Given the description of an element on the screen output the (x, y) to click on. 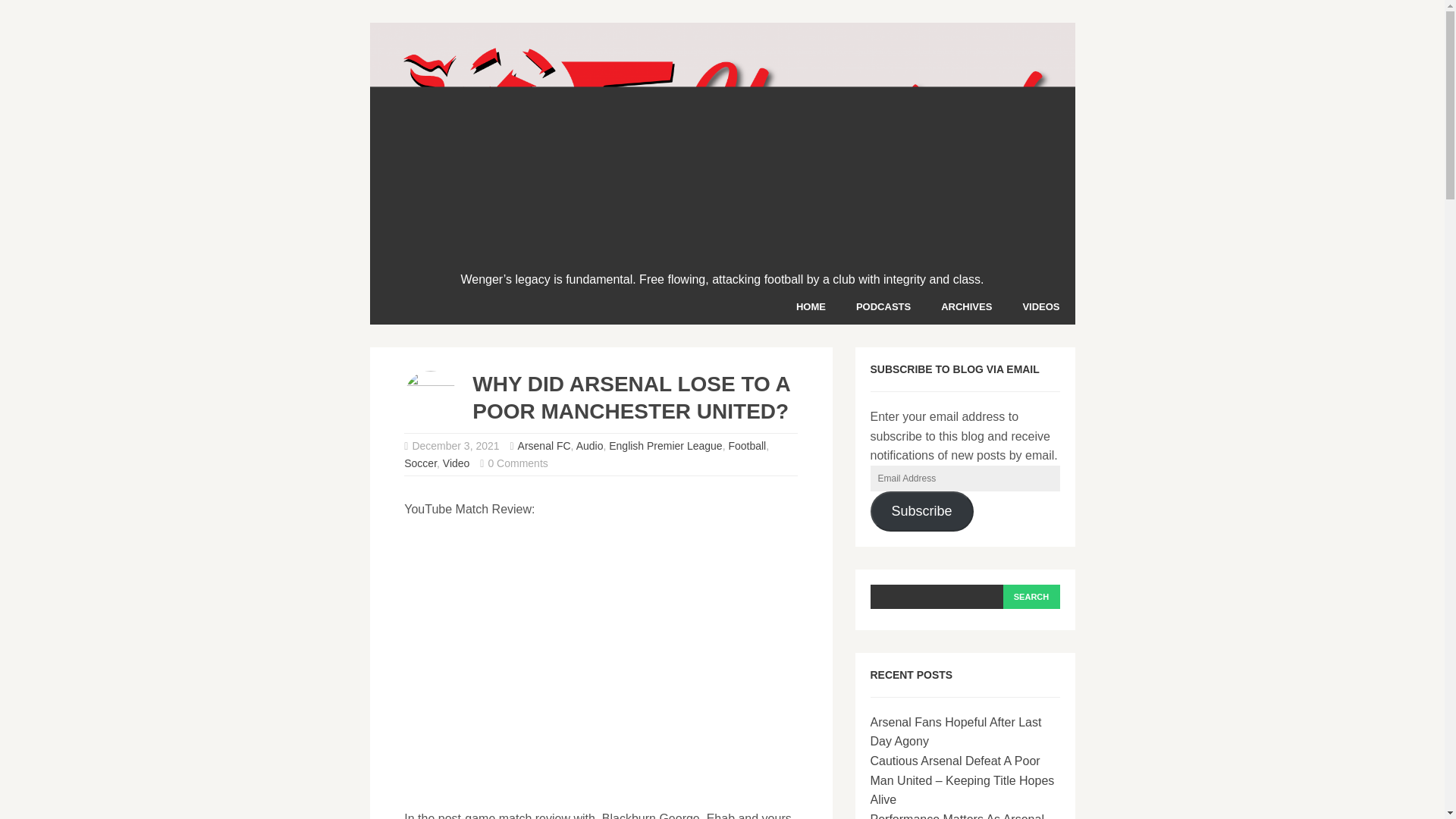
HOME (810, 306)
Audio (590, 445)
UnCensored Arsenal (722, 259)
VIDEOS (1040, 306)
YouTube video player (600, 660)
Arsenal Fans Hopeful After Last Day Agony (956, 731)
English Premier League (665, 445)
ARCHIVES (966, 306)
Arsenal FC (544, 445)
Search (1031, 596)
PODCASTS (883, 306)
Soccer (420, 463)
Football (746, 445)
Search (1031, 596)
